Given the description of an element on the screen output the (x, y) to click on. 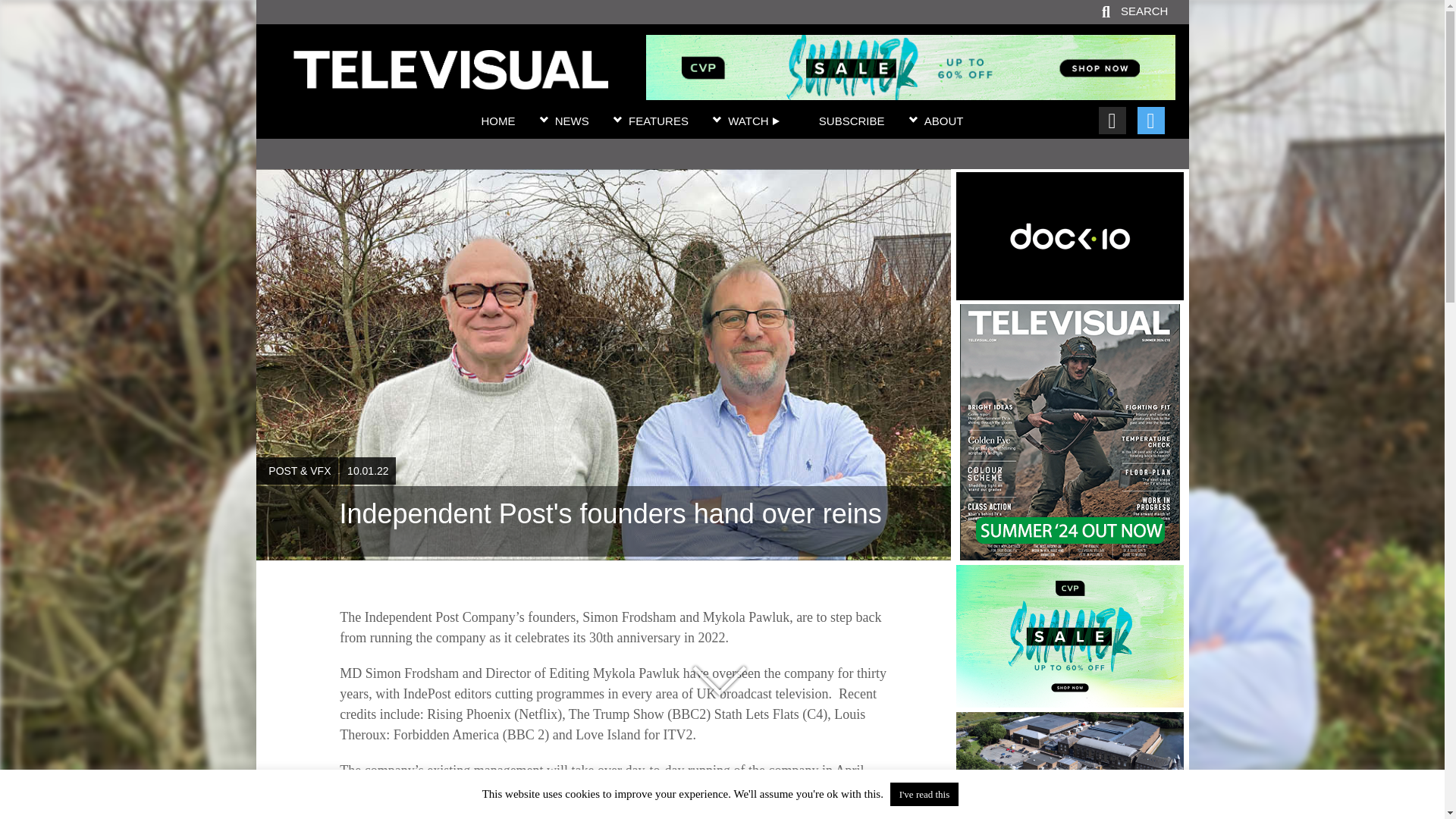
Independent Post's founders hand over reins (603, 521)
10.01.22 (367, 470)
HOME (497, 121)
ABOUT (943, 121)
NEWS (571, 121)
SUBSCRIBE (851, 121)
WATCH (753, 121)
FEATURES (658, 121)
